Given the description of an element on the screen output the (x, y) to click on. 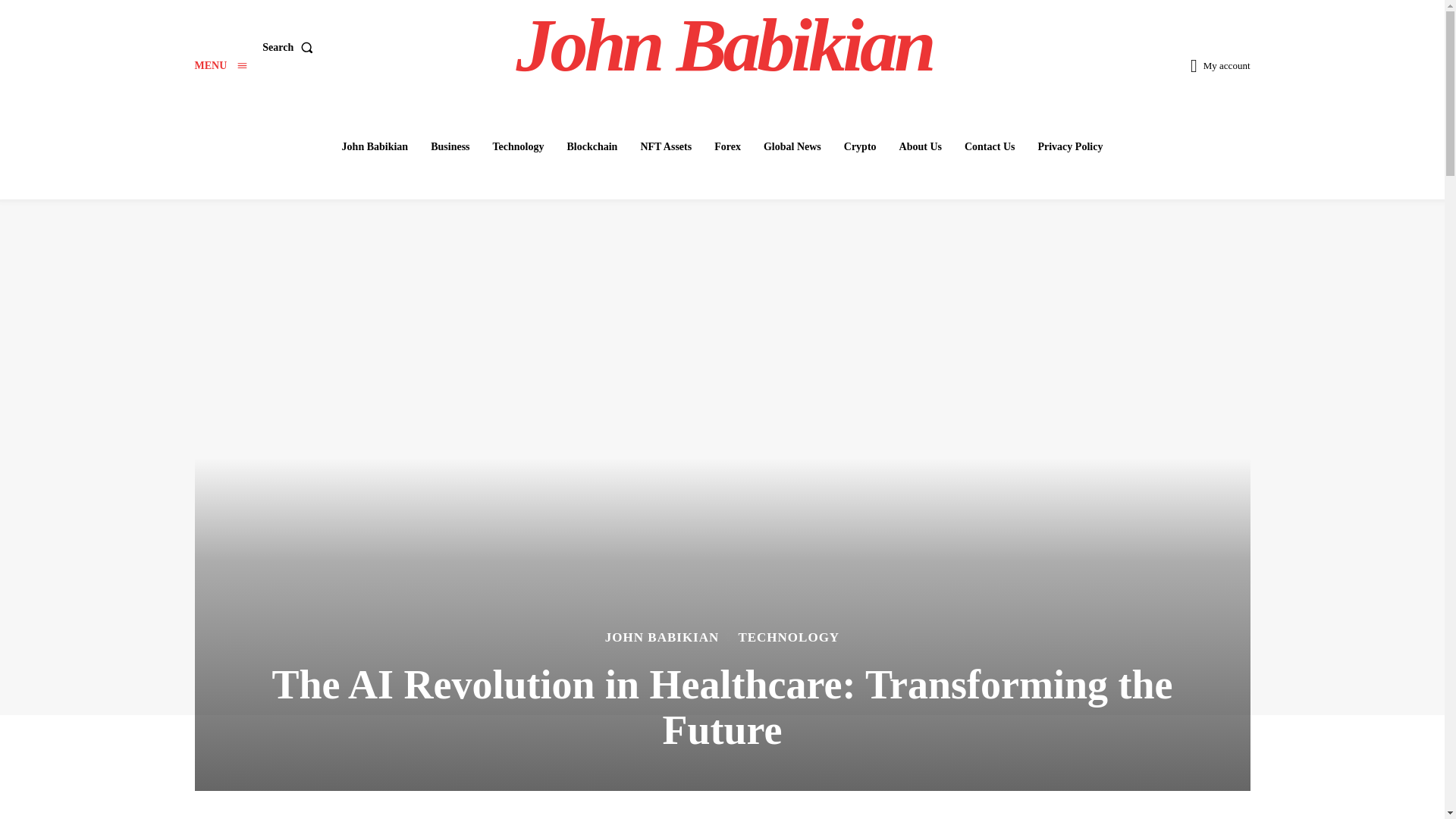
MENU (220, 65)
John Babikian (375, 146)
Global News (791, 146)
Blockchain (591, 146)
Privacy Policy (1069, 146)
John Babikian (724, 45)
JOHN BABIKIAN (662, 636)
Search (290, 47)
Forex (727, 146)
Business (450, 146)
